Given the description of an element on the screen output the (x, y) to click on. 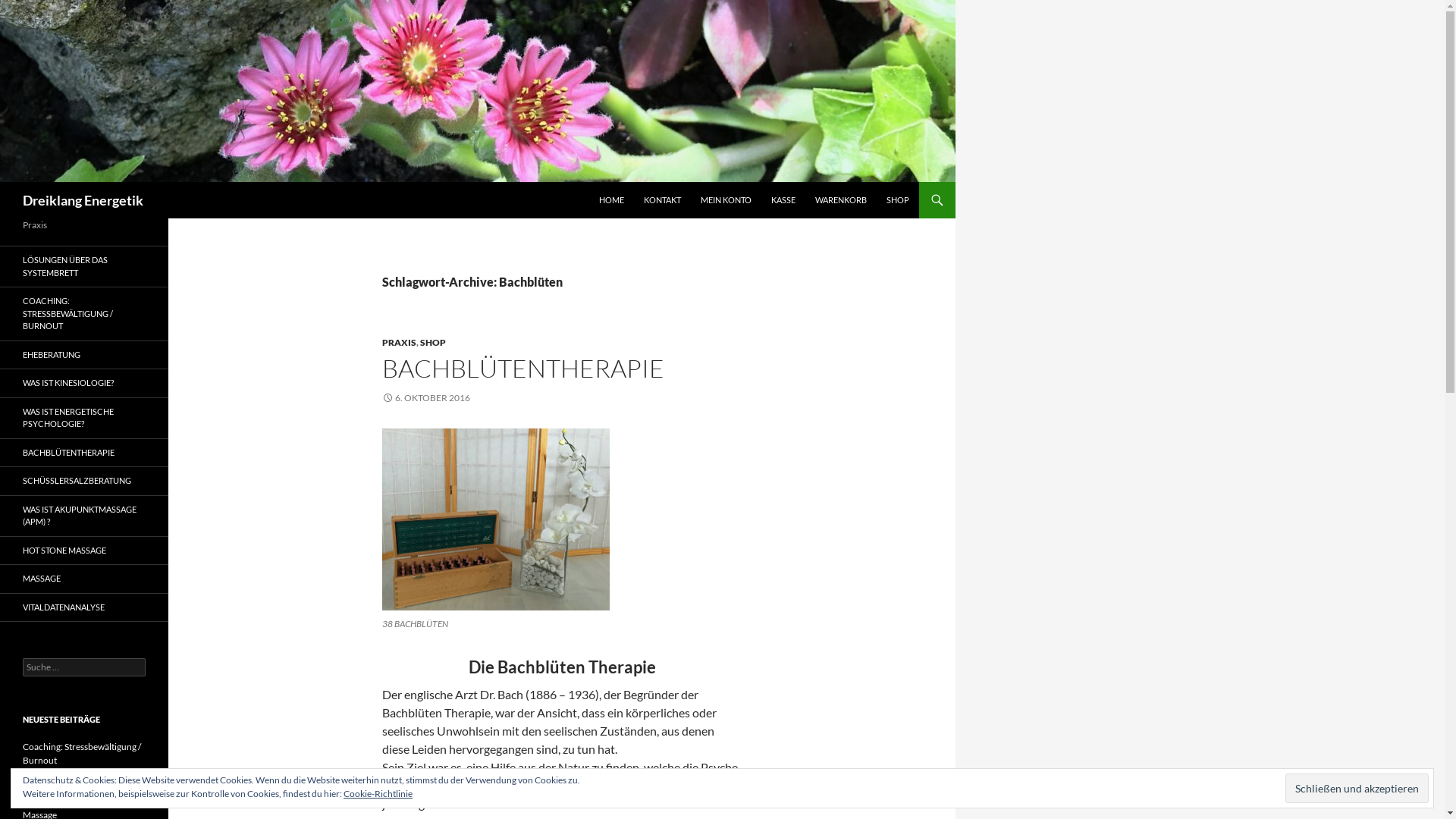
MEIN KONTO Element type: text (725, 200)
SHOP Element type: text (432, 342)
KASSE Element type: text (783, 200)
VITALDATENANALYSE Element type: text (84, 607)
HOME Element type: text (611, 200)
HOT STONE MASSAGE Element type: text (84, 550)
WAS IST AKUPUNKTMASSAGE (APM) ? Element type: text (84, 515)
MASSAGE Element type: text (84, 578)
WARENKORB Element type: text (840, 200)
EHEBERATUNG Element type: text (84, 355)
Suche Element type: text (26, 9)
Dreiklang Energetik Element type: text (82, 200)
WAS IST ENERGETISCHE PSYCHOLOGIE? Element type: text (84, 417)
SHOP Element type: text (897, 200)
6. OKTOBER 2016 Element type: text (426, 397)
Cookie-Richtlinie Element type: text (377, 793)
Suchen Element type: text (3, 181)
PRAXIS Element type: text (399, 342)
WAS IST KINESIOLOGIE? Element type: text (84, 383)
ZUM INHALT SPRINGEN Element type: text (598, 181)
KONTAKT Element type: text (662, 200)
